Given the description of an element on the screen output the (x, y) to click on. 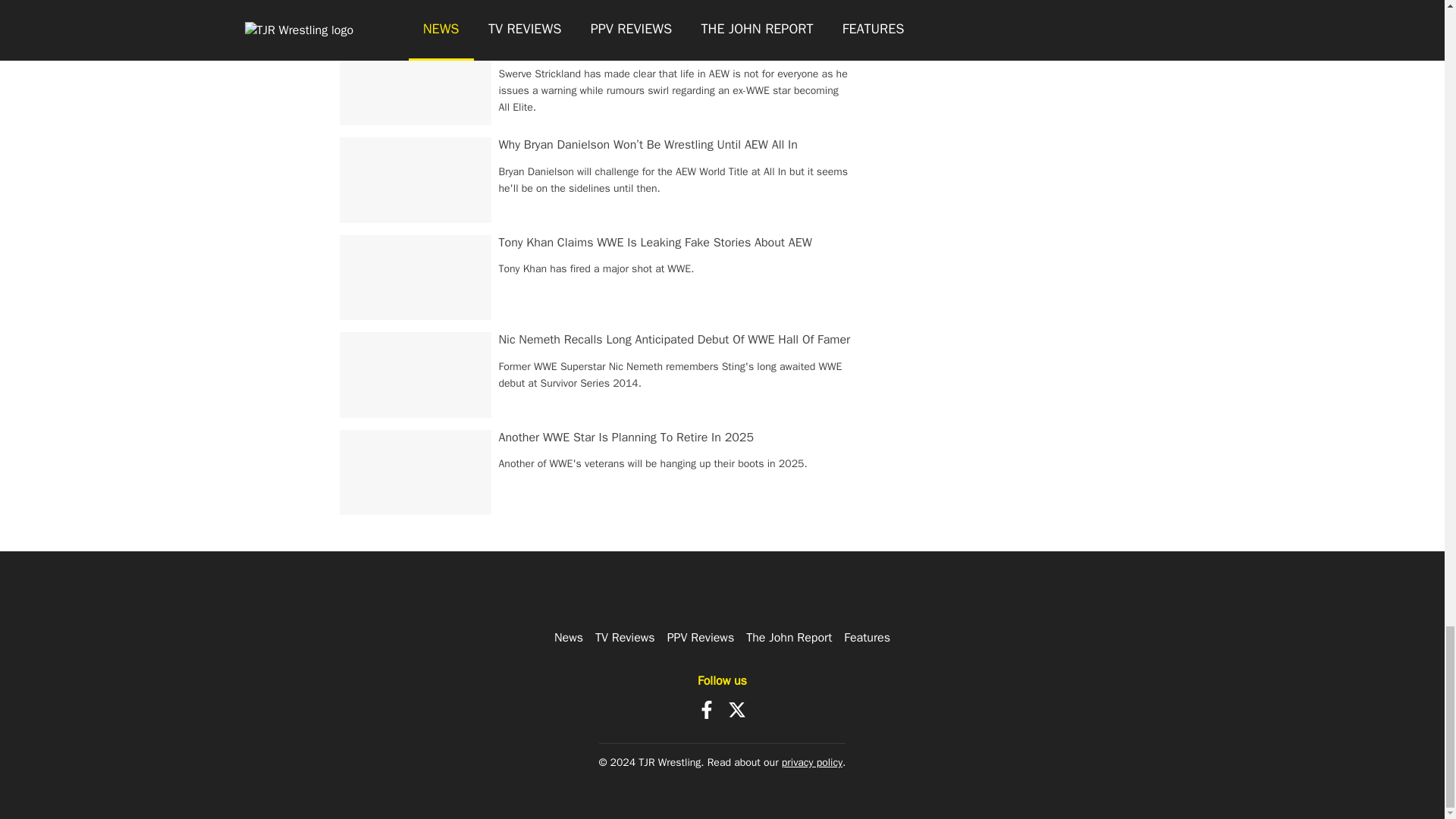
Swerve Strickland Issues Warning To Incoming AEW Stars (651, 47)
Facebook (706, 710)
X (736, 710)
Tony Khan Claims WWE Is Leaking Fake Stories About AEW (655, 242)
